Given the description of an element on the screen output the (x, y) to click on. 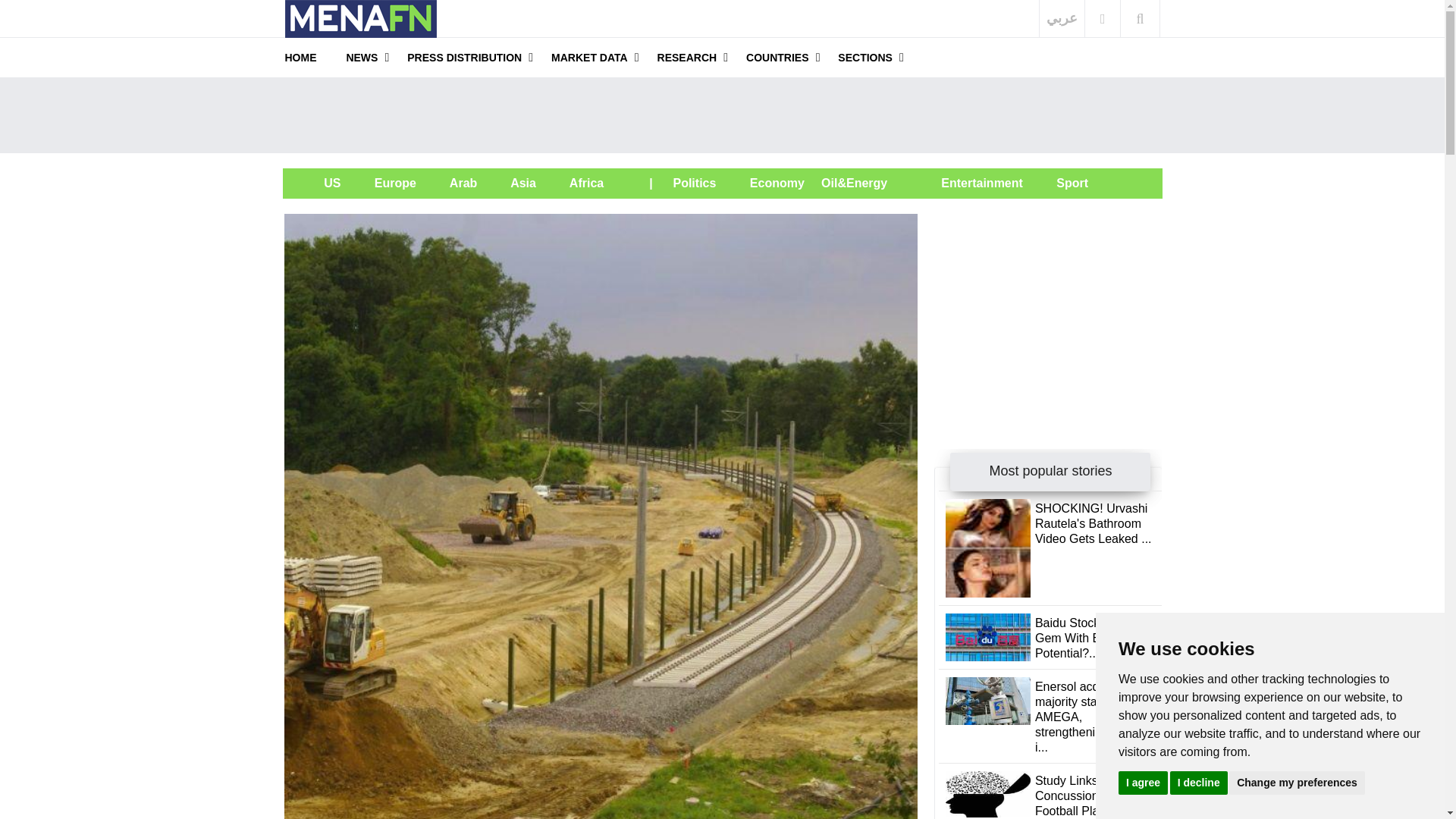
Advertisement (721, 115)
I decline (1198, 781)
MARKET DATA (589, 56)
Advertisement (1047, 308)
Change my preferences (1296, 781)
I agree (1142, 781)
PRESS DISTRIBUTION (464, 56)
